Given the description of an element on the screen output the (x, y) to click on. 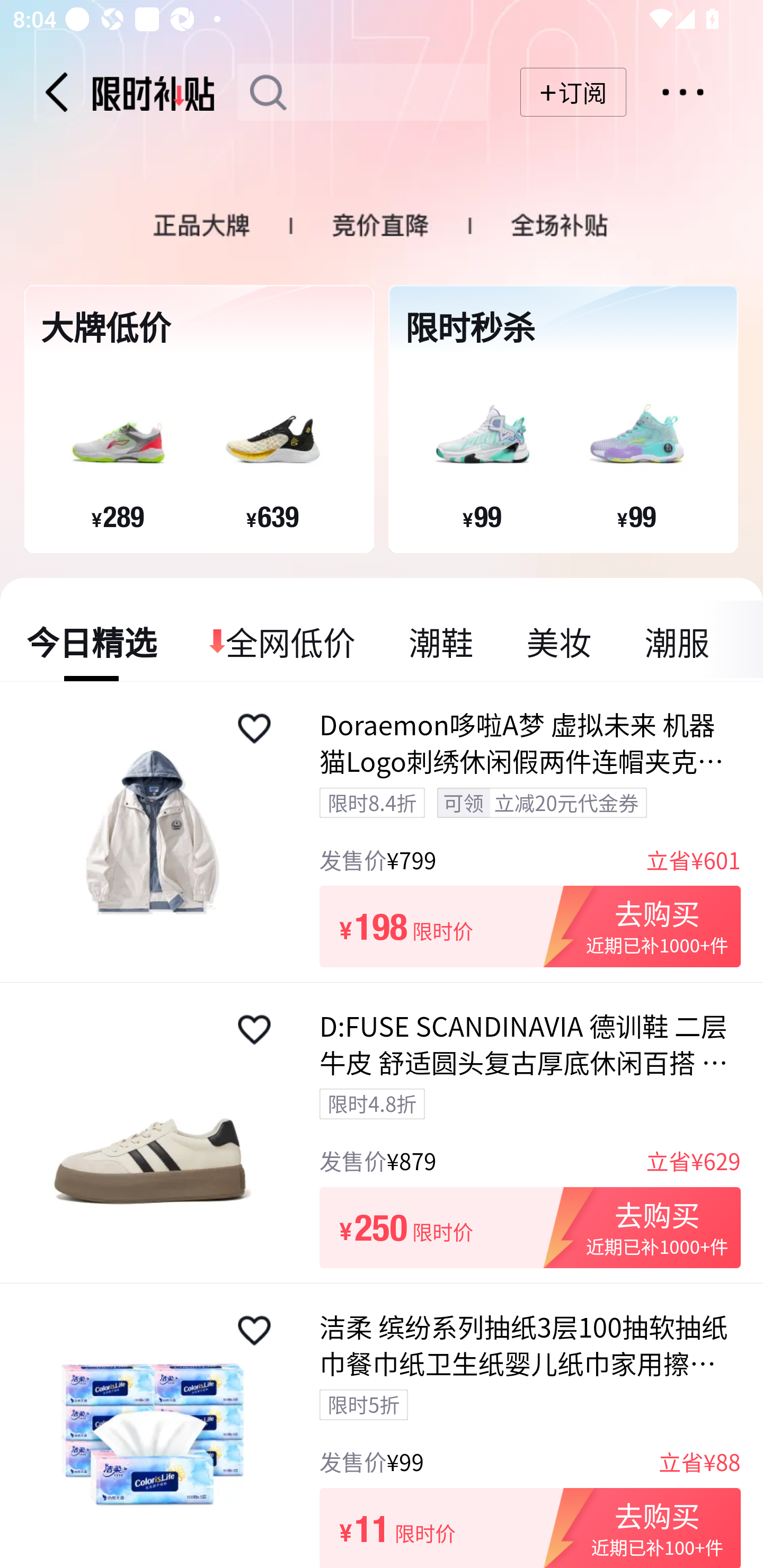
+订阅 (572, 92)
¥699 (272, 87)
resize,w_152 ¥289 (117, 443)
resize,w_152 ¥639 (271, 443)
resize,w_152 ¥99 (481, 443)
resize,w_152 ¥99 (636, 443)
¥289 (118, 516)
¥639 (272, 516)
¥99 (482, 516)
¥99 (636, 516)
今日精选 (92, 640)
9e7fc8ca-86cd-3a08-4a56-57b9d219ca85-30-45 全网低价 (283, 640)
潮鞋 (440, 640)
美妆 (558, 640)
潮服 (676, 640)
resize,w_60 (254, 728)
resize,w_60 (254, 1030)
resize,w_60 (254, 1331)
